Given the description of an element on the screen output the (x, y) to click on. 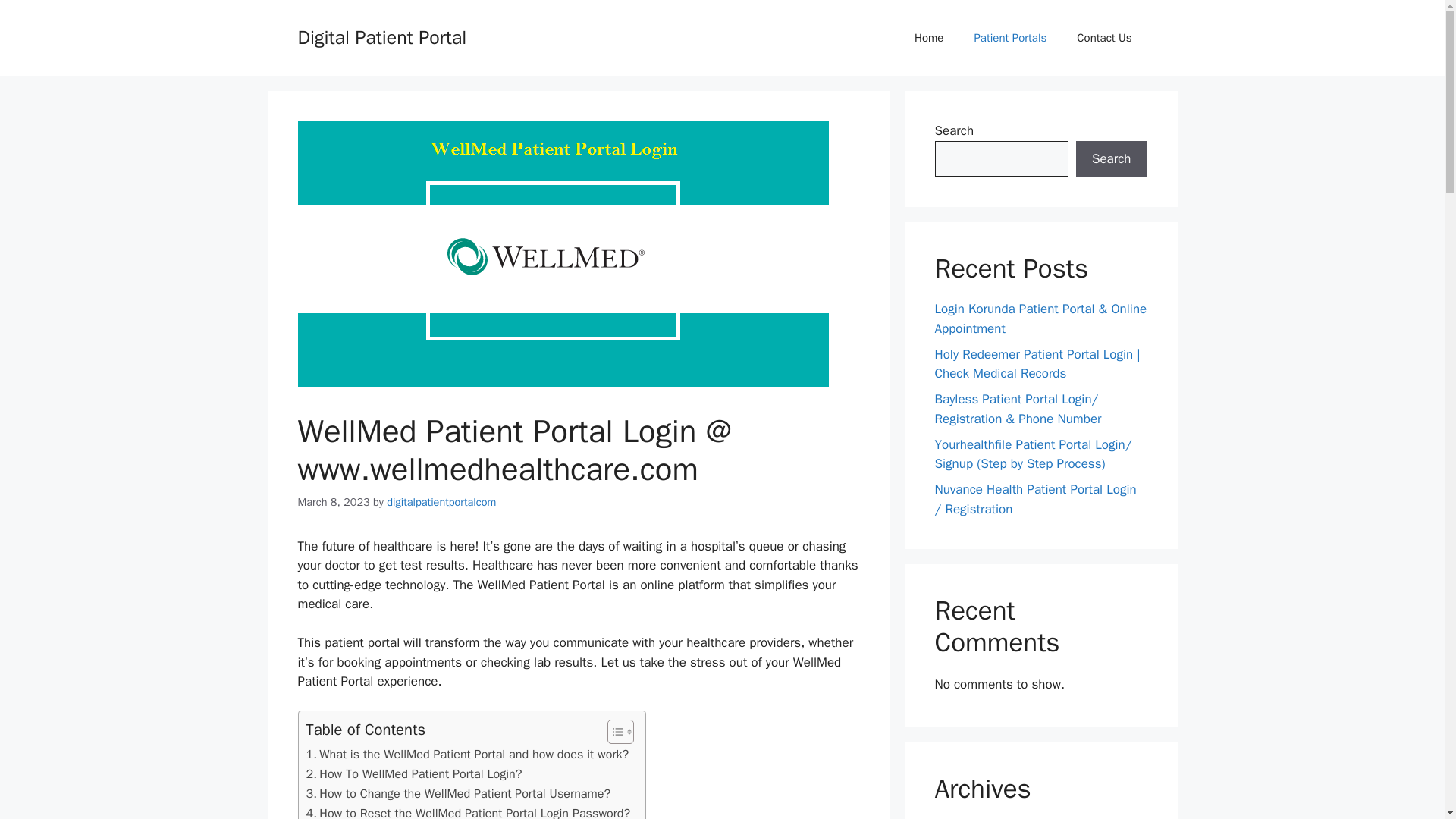
What is the WellMed Patient Portal and how does it work? (466, 754)
View all posts by digitalpatientportalcom (441, 501)
How to Reset the WellMed Patient Portal Login Password? (467, 811)
How To WellMed Patient Portal Login? (413, 773)
digitalpatientportalcom (441, 501)
Patient Portals (1009, 37)
How to Reset the WellMed Patient Portal Login Password? (467, 811)
How to Change the WellMed Patient Portal Username? (458, 793)
What is the WellMed Patient Portal and how does it work? (466, 754)
Contact Us (1104, 37)
